Given the description of an element on the screen output the (x, y) to click on. 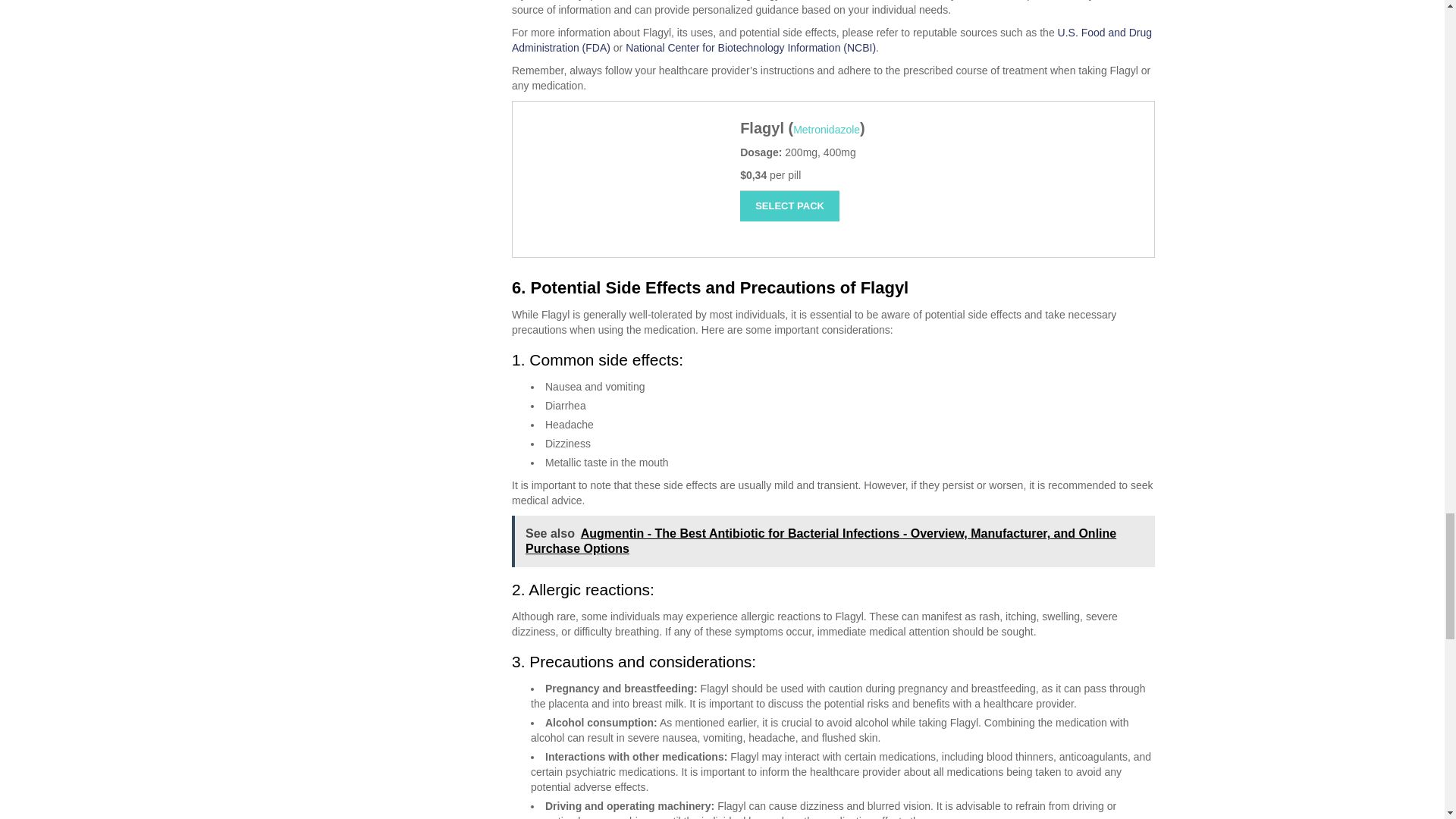
SELECT PACK (789, 205)
